Given the description of an element on the screen output the (x, y) to click on. 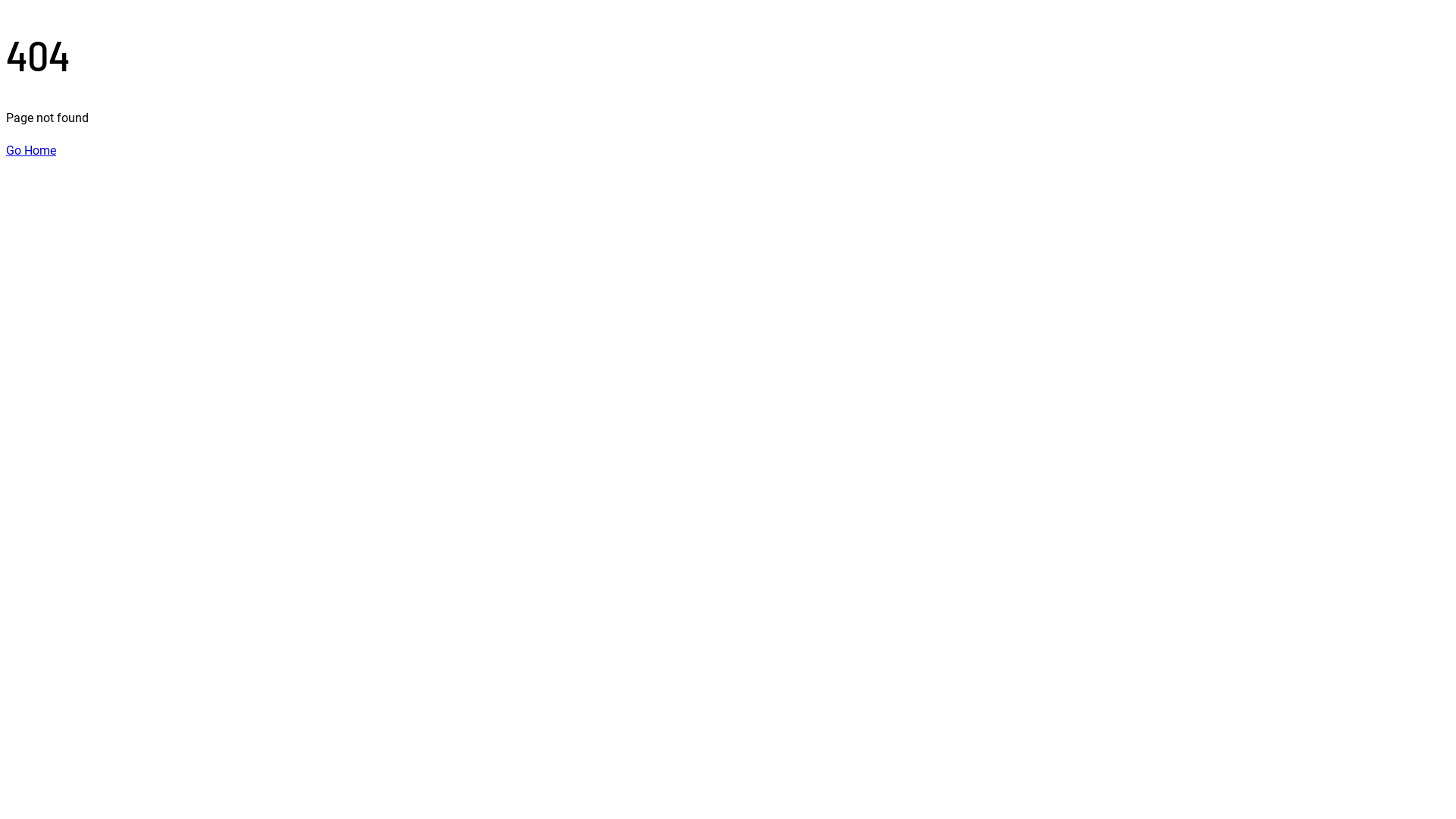
Go Home Element type: text (31, 150)
